Given the description of an element on the screen output the (x, y) to click on. 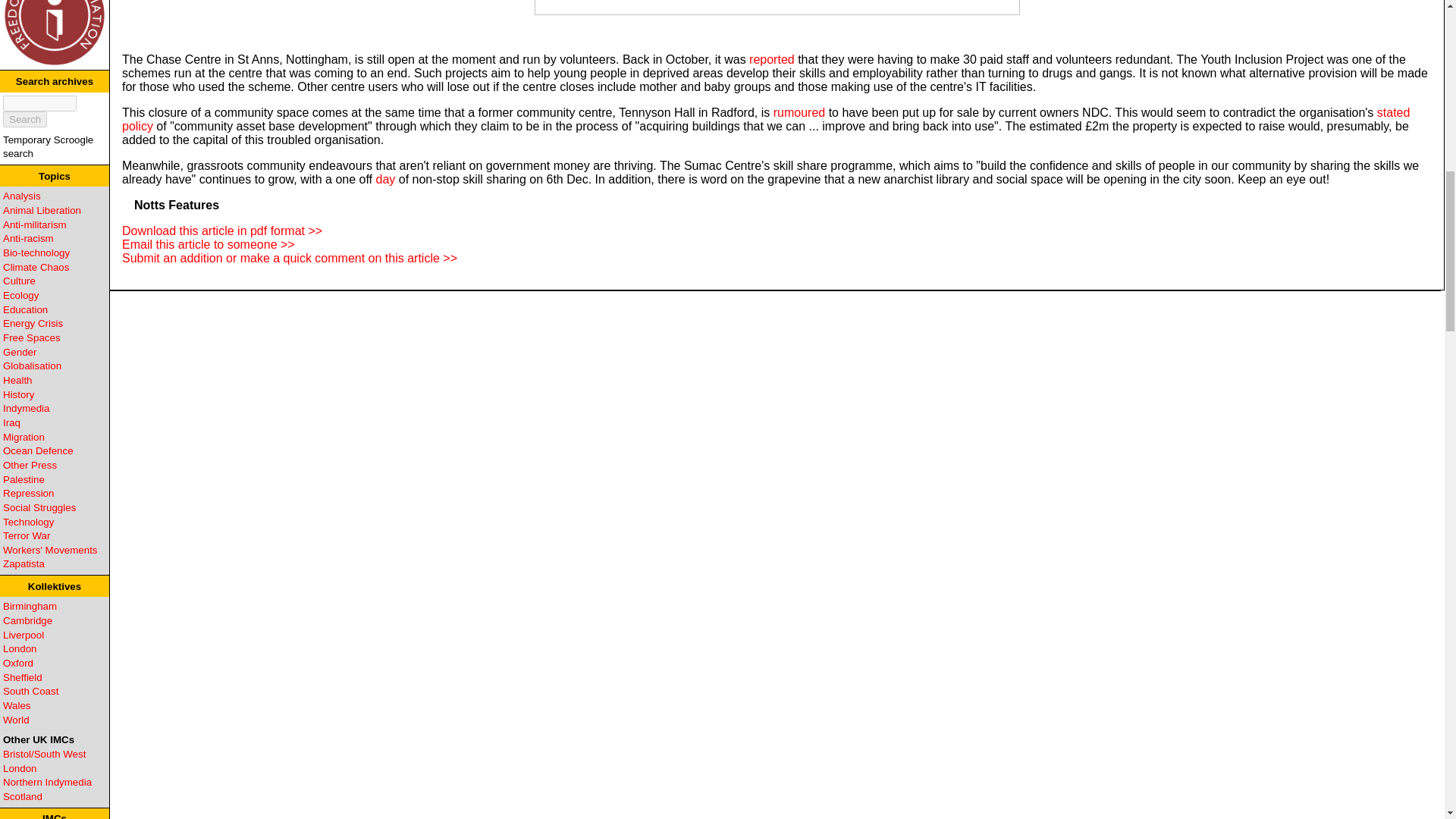
Topics (54, 175)
Ecology (20, 295)
Gender (19, 351)
Anti-racism (27, 238)
Free Spaces (31, 337)
Culture (18, 280)
Iraq (11, 422)
GM, GMOs, gene manipulation, patents. (35, 252)
